Given the description of an element on the screen output the (x, y) to click on. 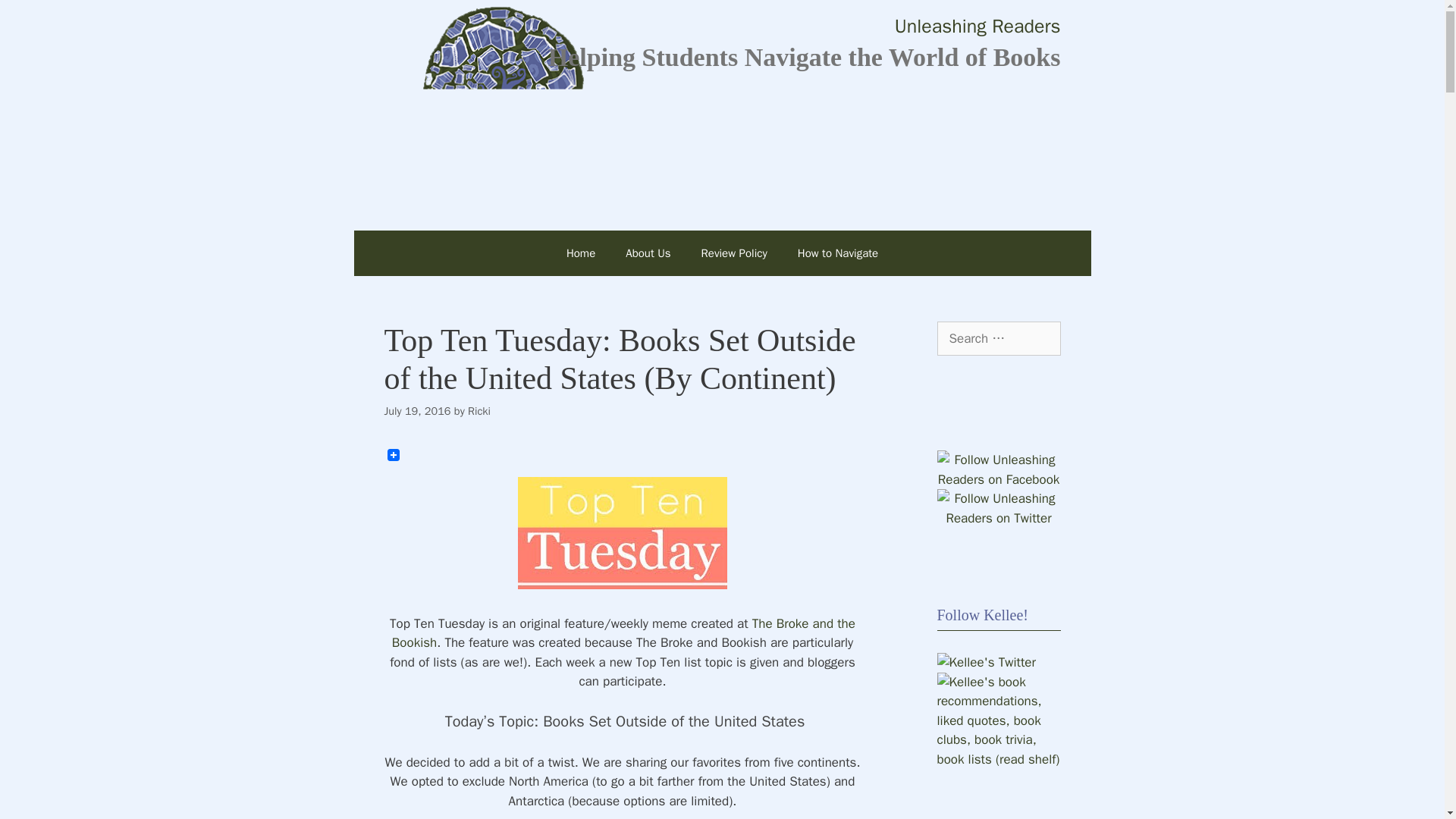
Follow Unleashing Readers on Facebook (999, 479)
Review Policy (734, 253)
How to Navigate (838, 253)
View all posts by Ricki (478, 410)
The Broke and the Bookish (623, 633)
About Us (647, 253)
Ricki (478, 410)
Unleashing Readers (978, 25)
Home (580, 253)
Follow Unleashing Readers on Twitter (999, 518)
